Given the description of an element on the screen output the (x, y) to click on. 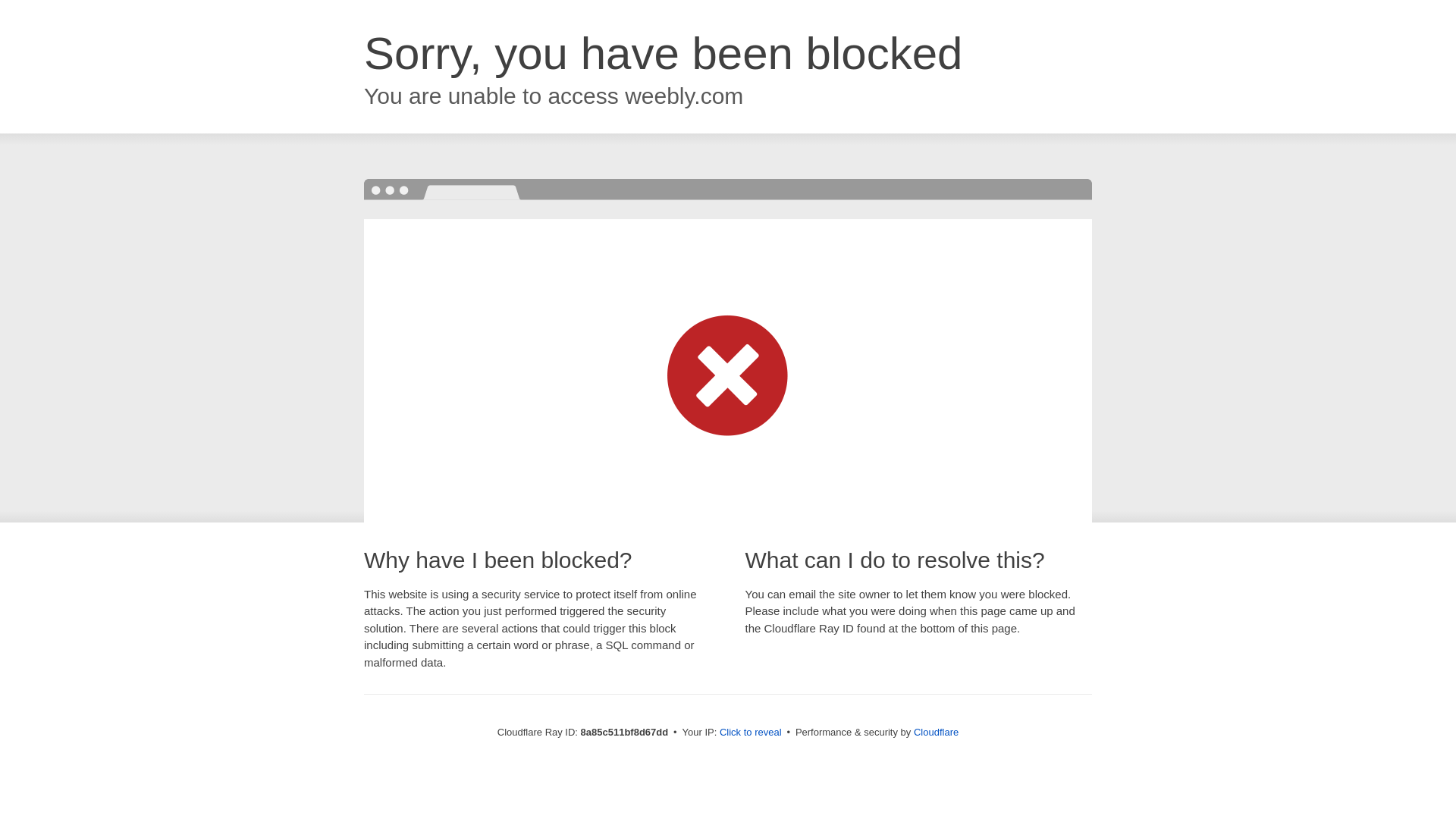
Cloudflare (936, 731)
Click to reveal (750, 732)
